Given the description of an element on the screen output the (x, y) to click on. 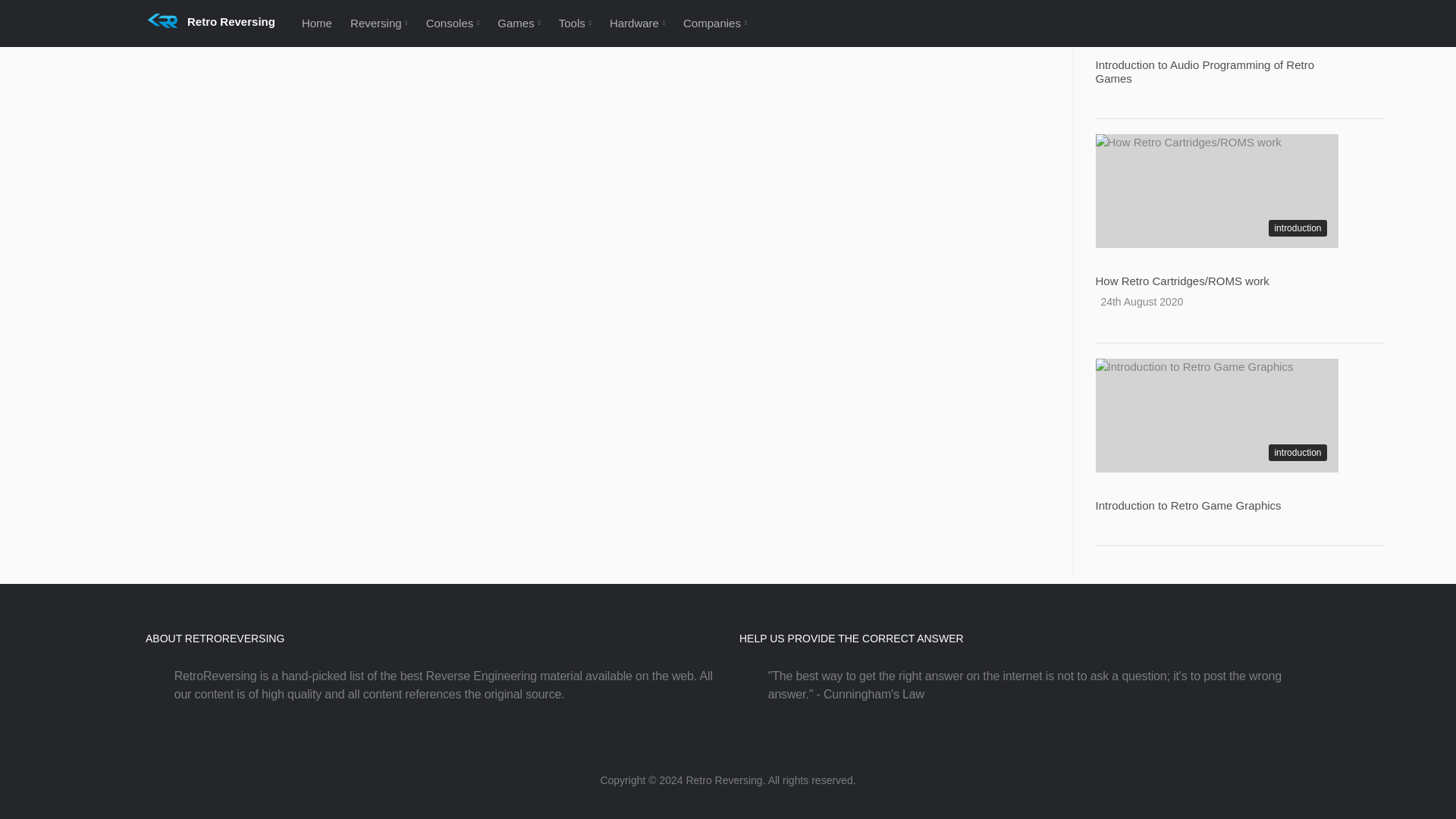
rss (746, 751)
twitter (709, 751)
youtube (727, 751)
